Given the description of an element on the screen output the (x, y) to click on. 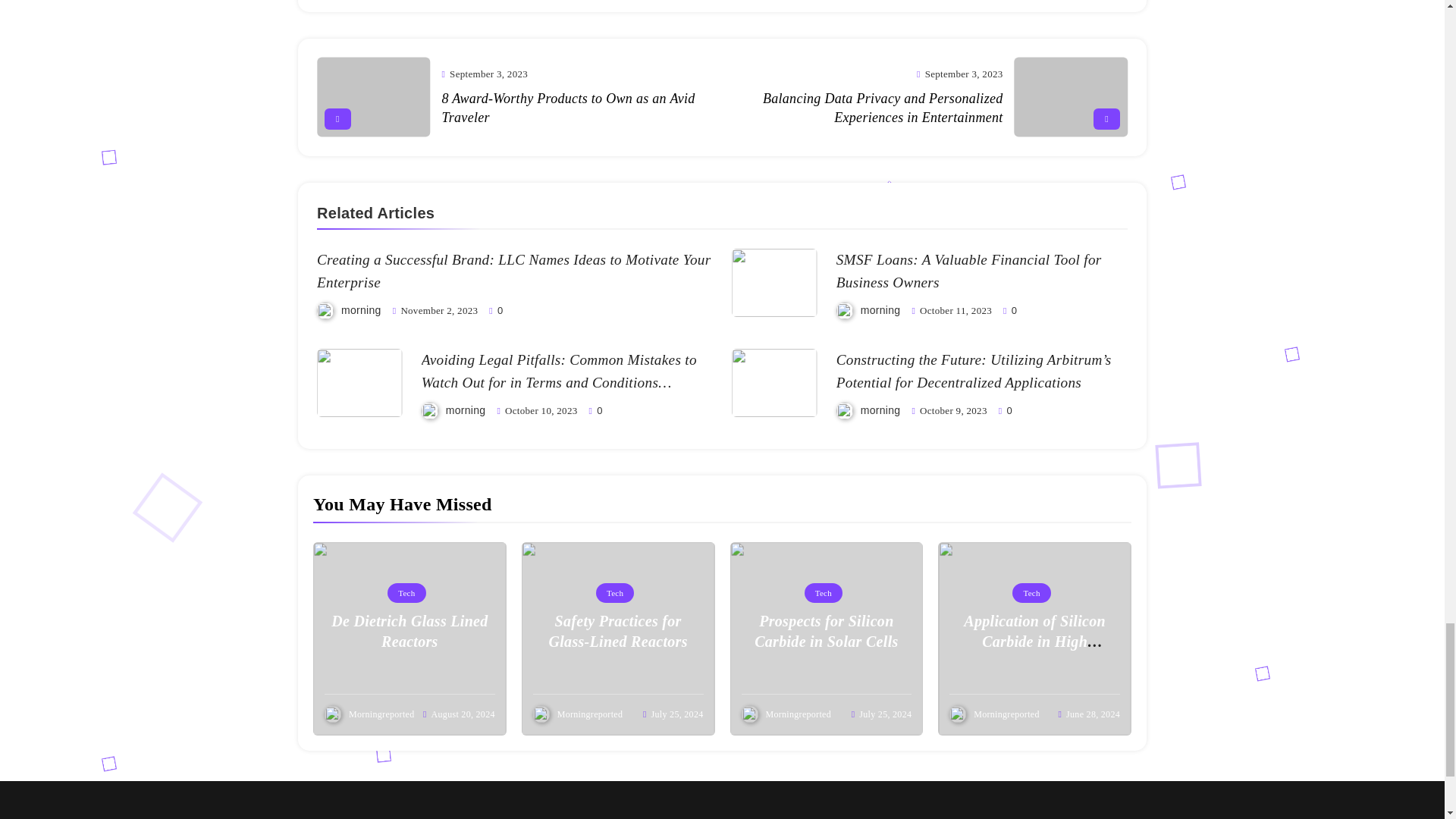
0 (595, 409)
October 10, 2023 (540, 410)
morning (465, 410)
October 11, 2023 (955, 310)
October 9, 2023 (953, 410)
0 (1009, 309)
Tech (406, 592)
morning (880, 309)
